Given the description of an element on the screen output the (x, y) to click on. 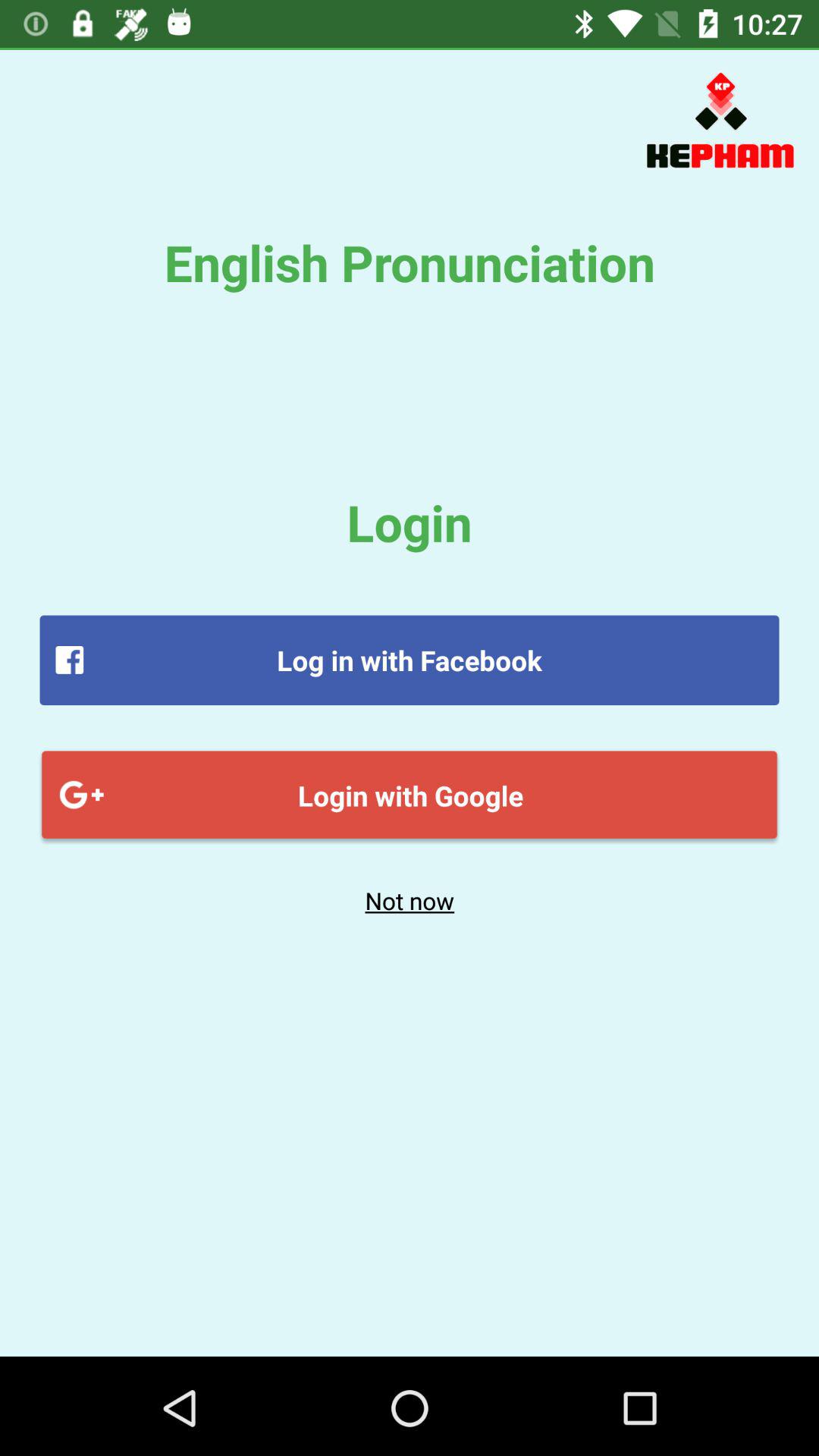
flip to login with google item (409, 794)
